Given the description of an element on the screen output the (x, y) to click on. 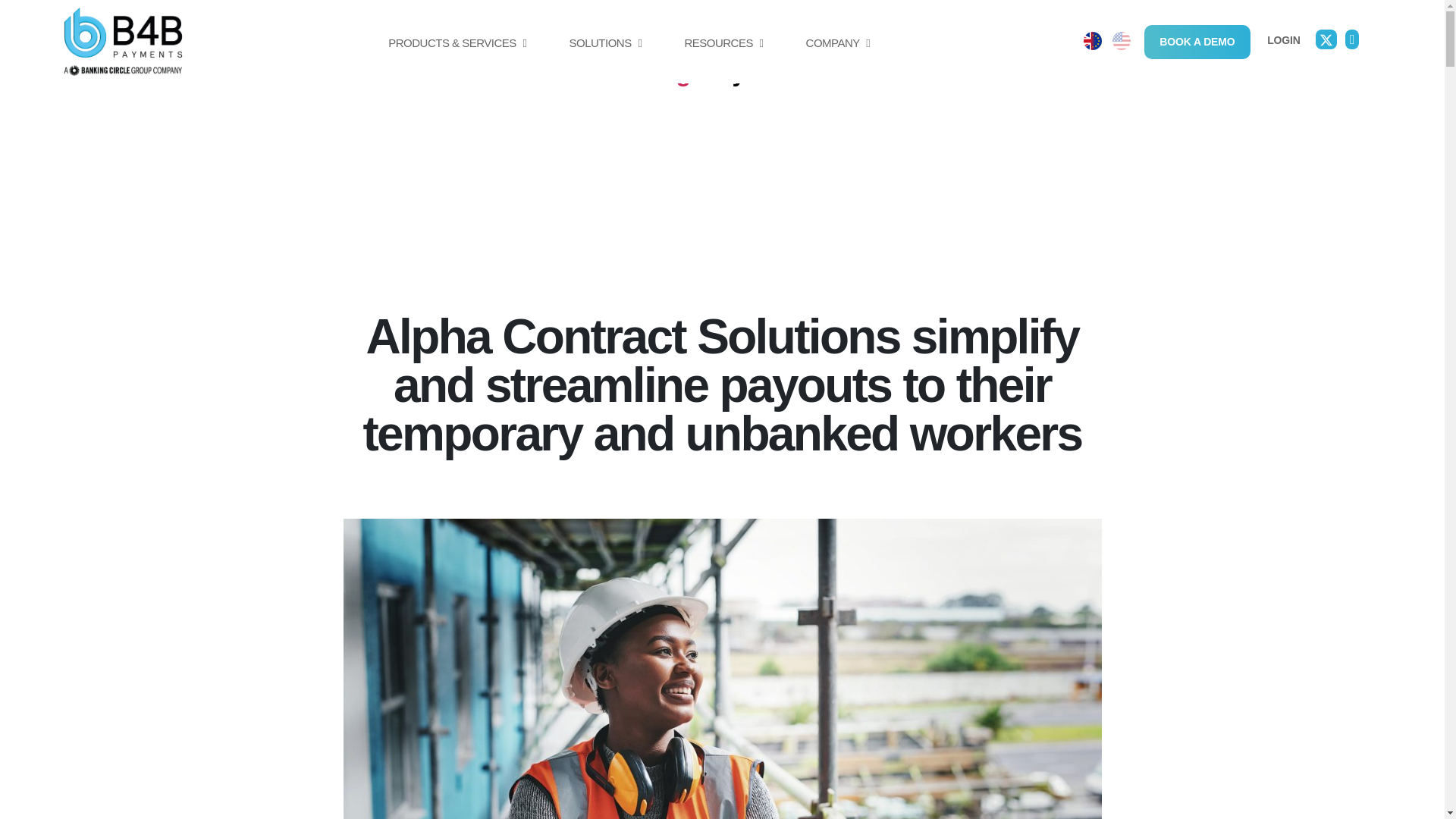
SOLUTIONS (604, 59)
LOGIN (1283, 39)
COMPANY (837, 59)
RESOURCES (723, 59)
BOOK A DEMO (1196, 41)
